Given the description of an element on the screen output the (x, y) to click on. 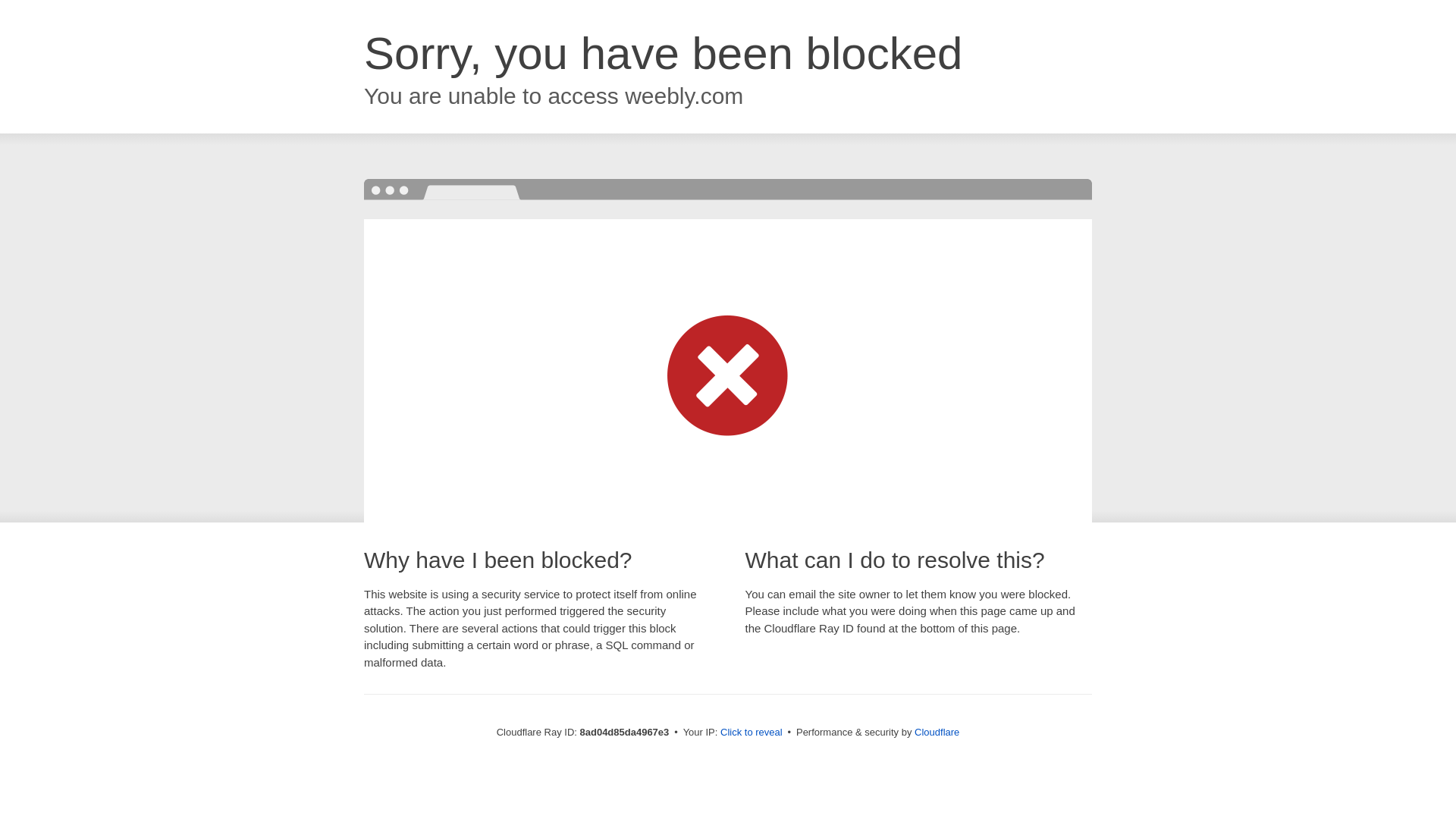
Cloudflare (936, 731)
Click to reveal (751, 732)
